Given the description of an element on the screen output the (x, y) to click on. 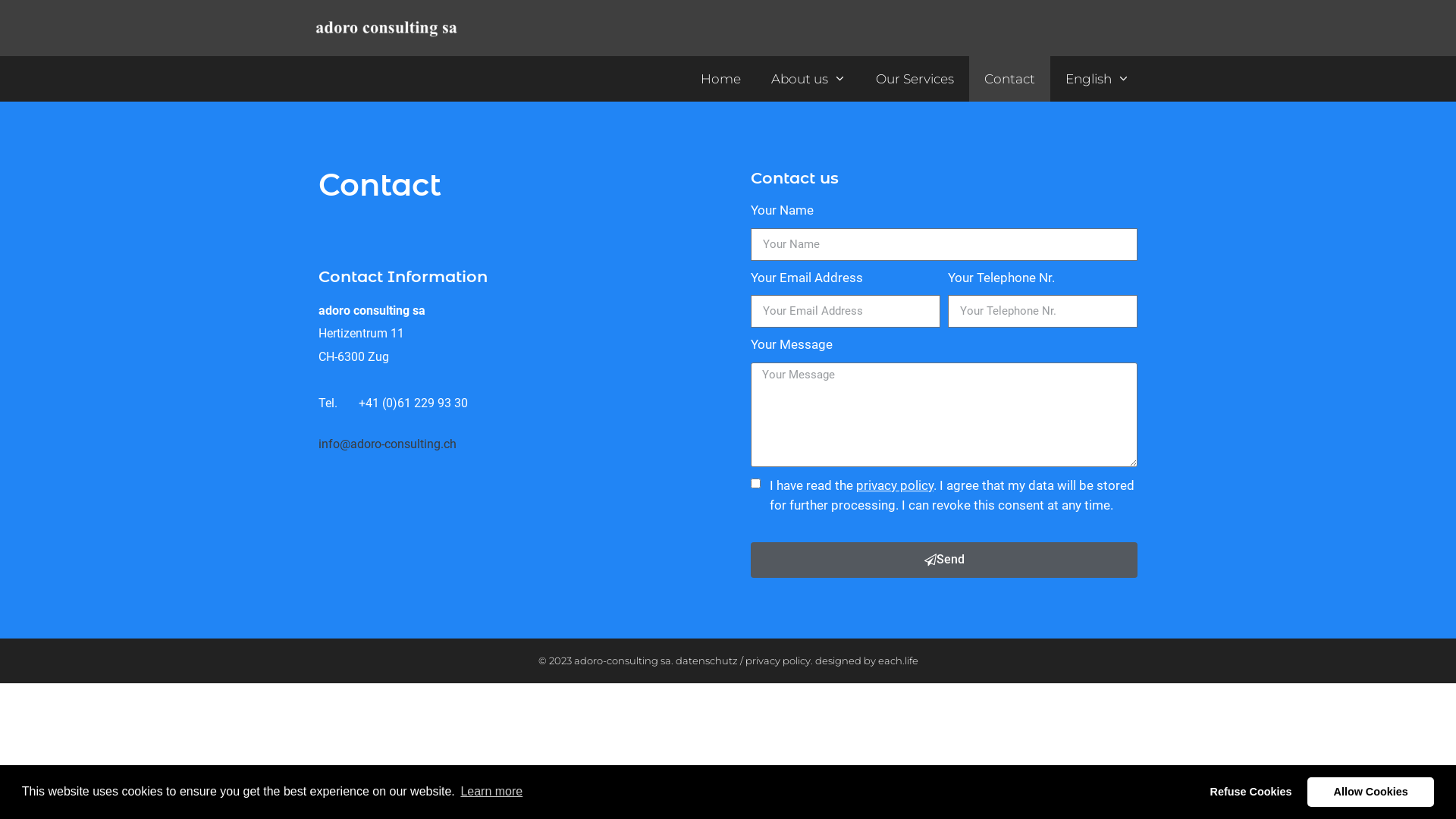
Refuse Cookies Element type: text (1250, 791)
About us Element type: text (808, 78)
privacy policy Element type: text (894, 484)
privacy policy Element type: text (776, 659)
English Element type: text (1097, 78)
Home Element type: text (720, 78)
adoro-consulting sa Element type: text (621, 659)
info@adoro-consulting.ch Element type: text (387, 443)
Our Services Element type: text (914, 78)
Learn more Element type: text (491, 791)
each.life Element type: text (898, 659)
Contact Element type: text (1009, 78)
datenschutz Element type: text (705, 659)
Allow Cookies Element type: text (1370, 791)
Send Element type: text (943, 559)
